Given the description of an element on the screen output the (x, y) to click on. 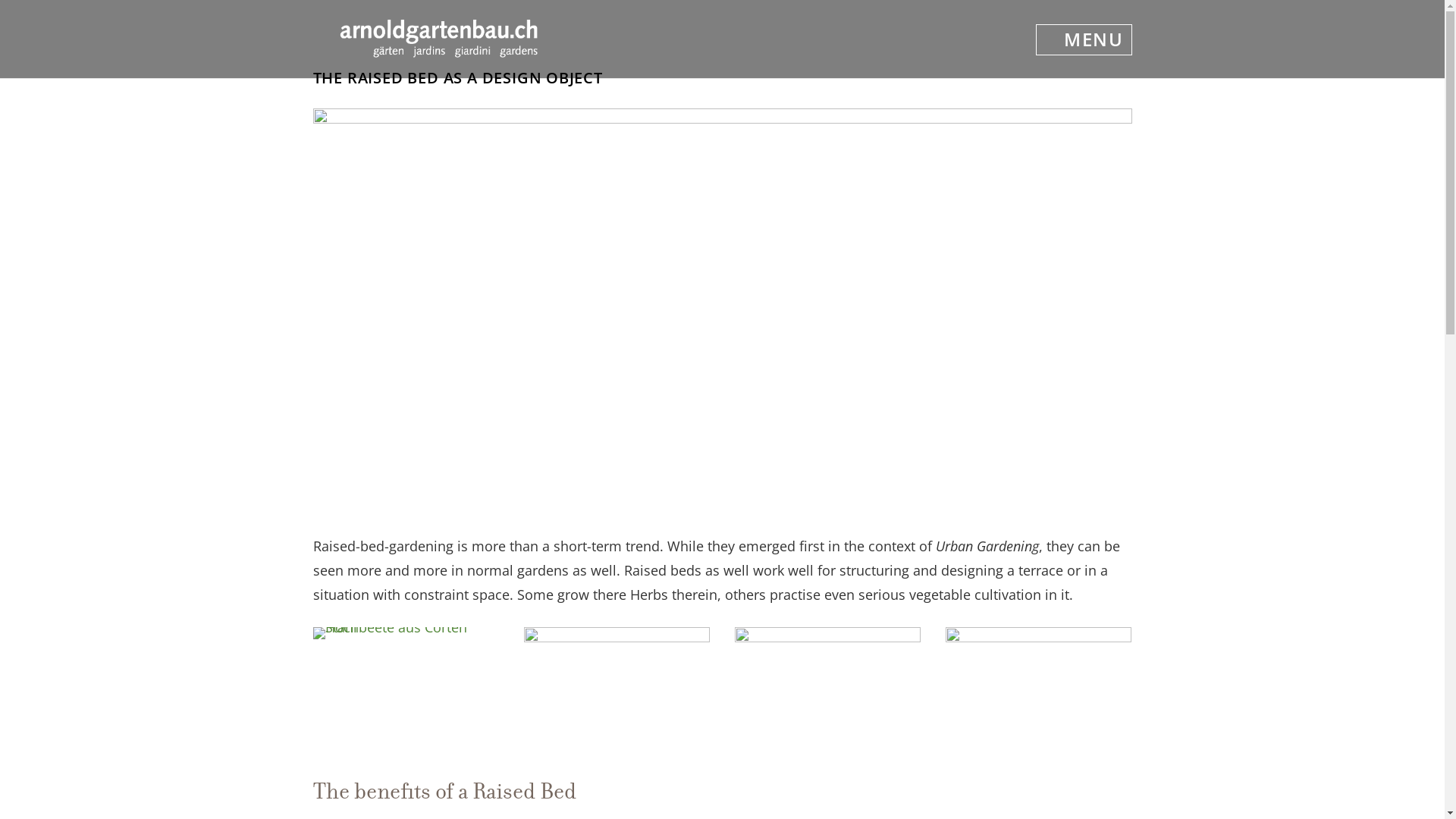
dsc9320 Element type: hover (617, 758)
Hochbeete aus Corten Stahl Element type: hover (405, 639)
dsc9351 Element type: hover (827, 758)
dsc0061-b Element type: hover (1038, 758)
